Given the description of an element on the screen output the (x, y) to click on. 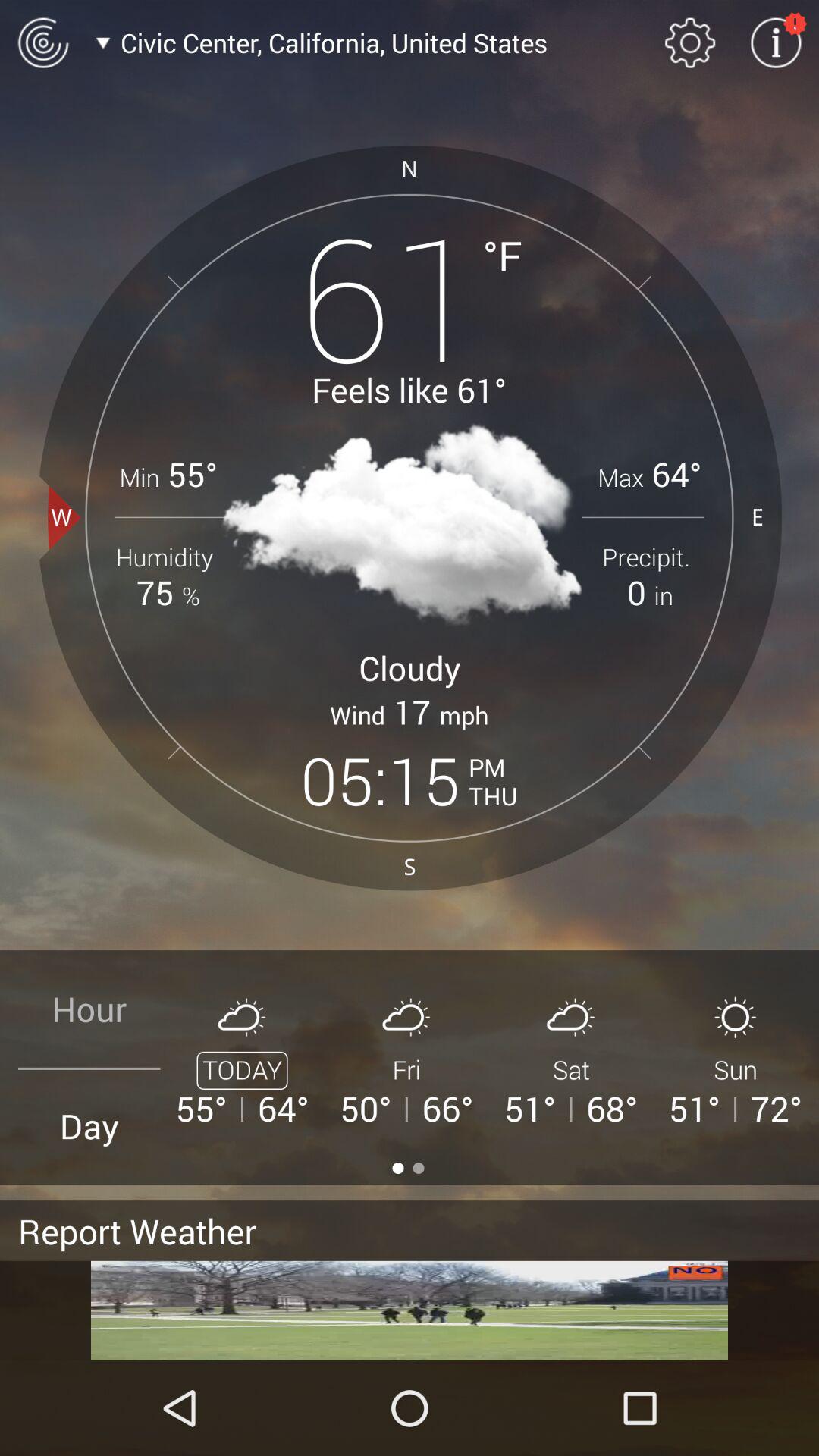
view radar (42, 42)
